Given the description of an element on the screen output the (x, y) to click on. 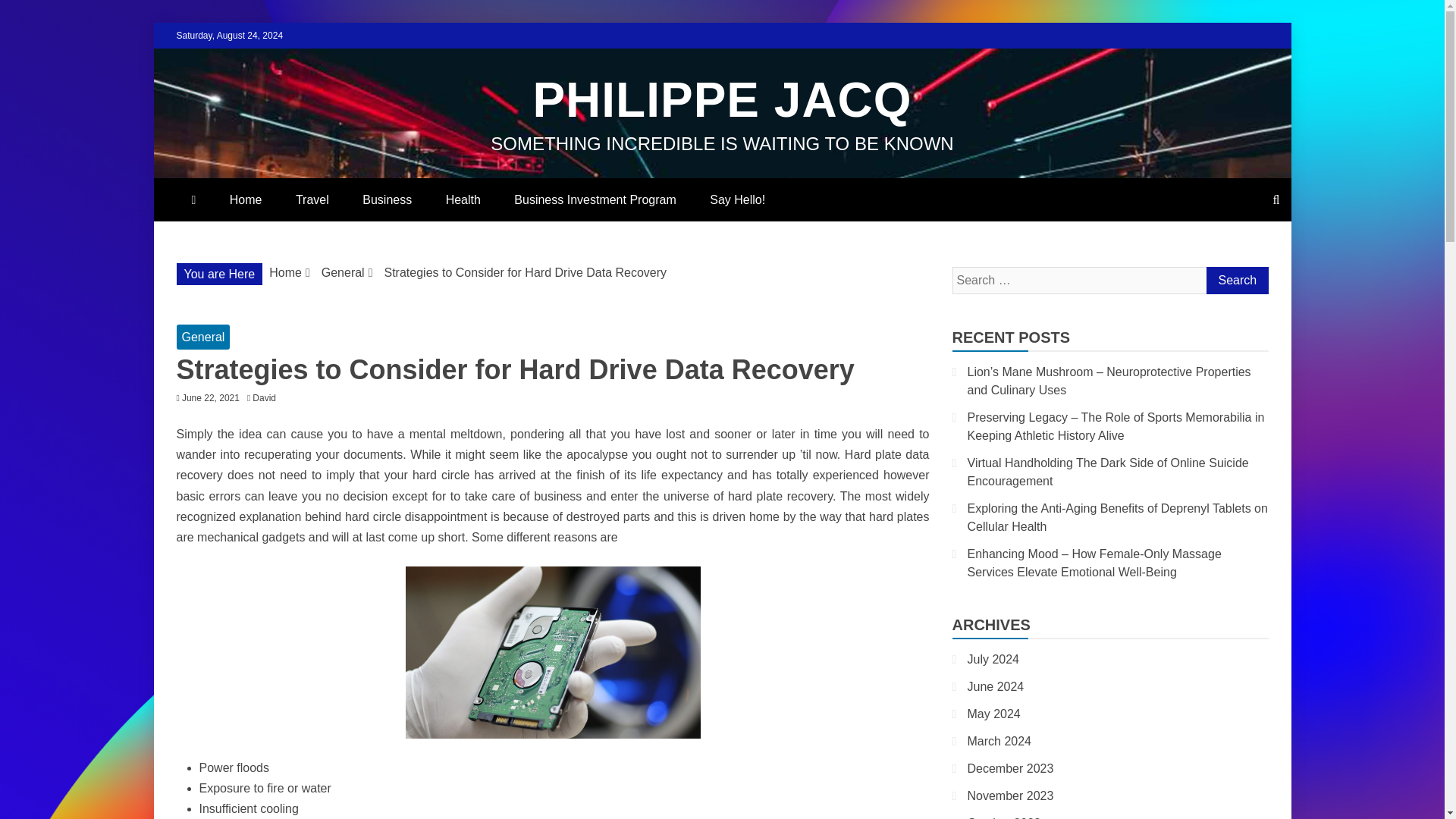
PHILIPPE JACQ (721, 99)
Travel (312, 199)
Home (285, 272)
Home (246, 199)
June 22, 2021 (211, 398)
Say Hello! (737, 199)
David (267, 398)
